Given the description of an element on the screen output the (x, y) to click on. 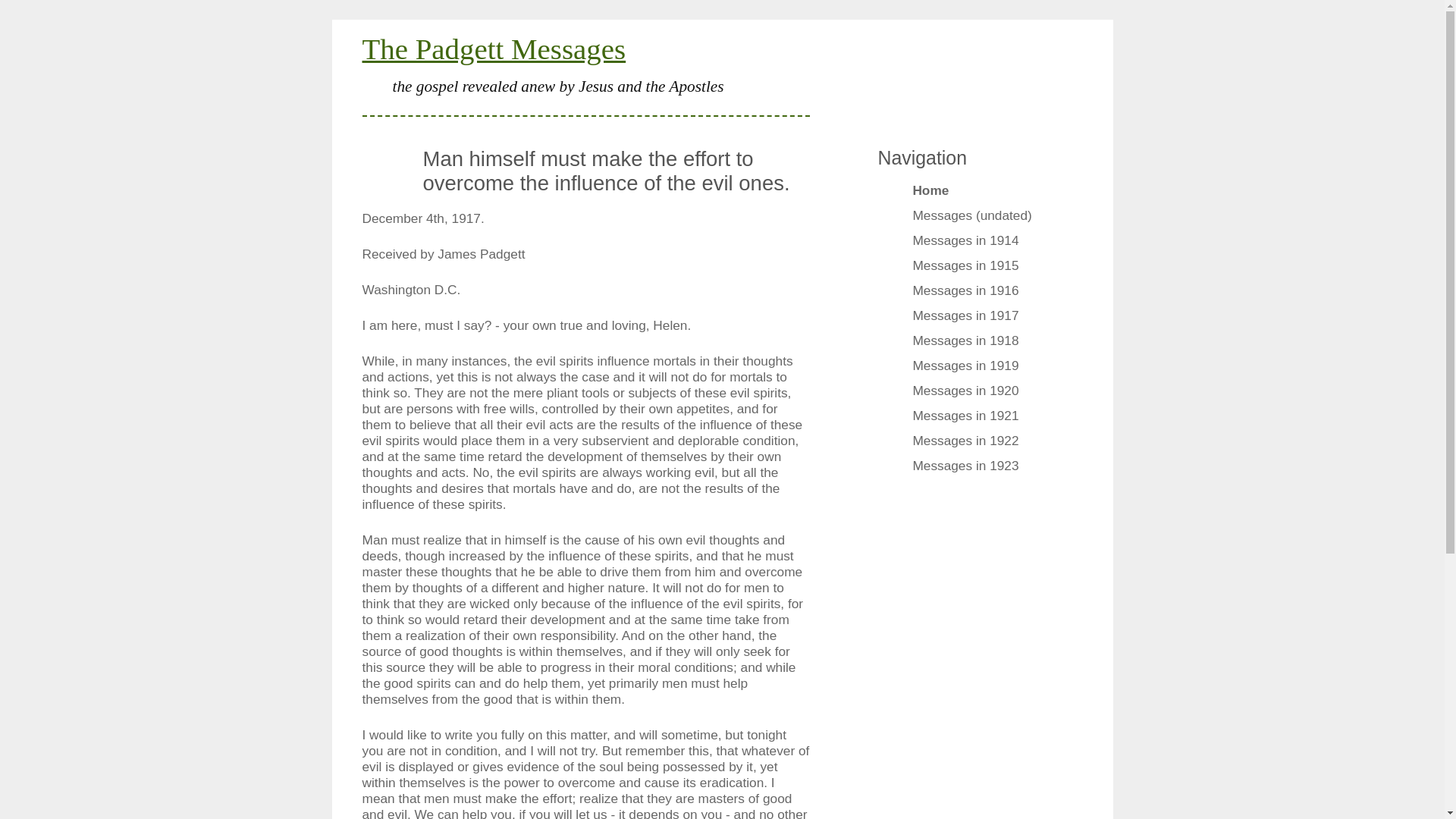
Messages in 1918 (972, 342)
Messages in 1922 (972, 442)
Home (972, 192)
Messages in 1916 (972, 292)
Messages in 1923 (972, 467)
Messages in 1921 (972, 417)
Messages in 1914 (972, 242)
Messages in 1920 (972, 392)
Messages in 1915 (972, 267)
The Padgett Messages (494, 48)
Messages in 1919 (972, 367)
Messages in 1917 (972, 317)
